Given the description of an element on the screen output the (x, y) to click on. 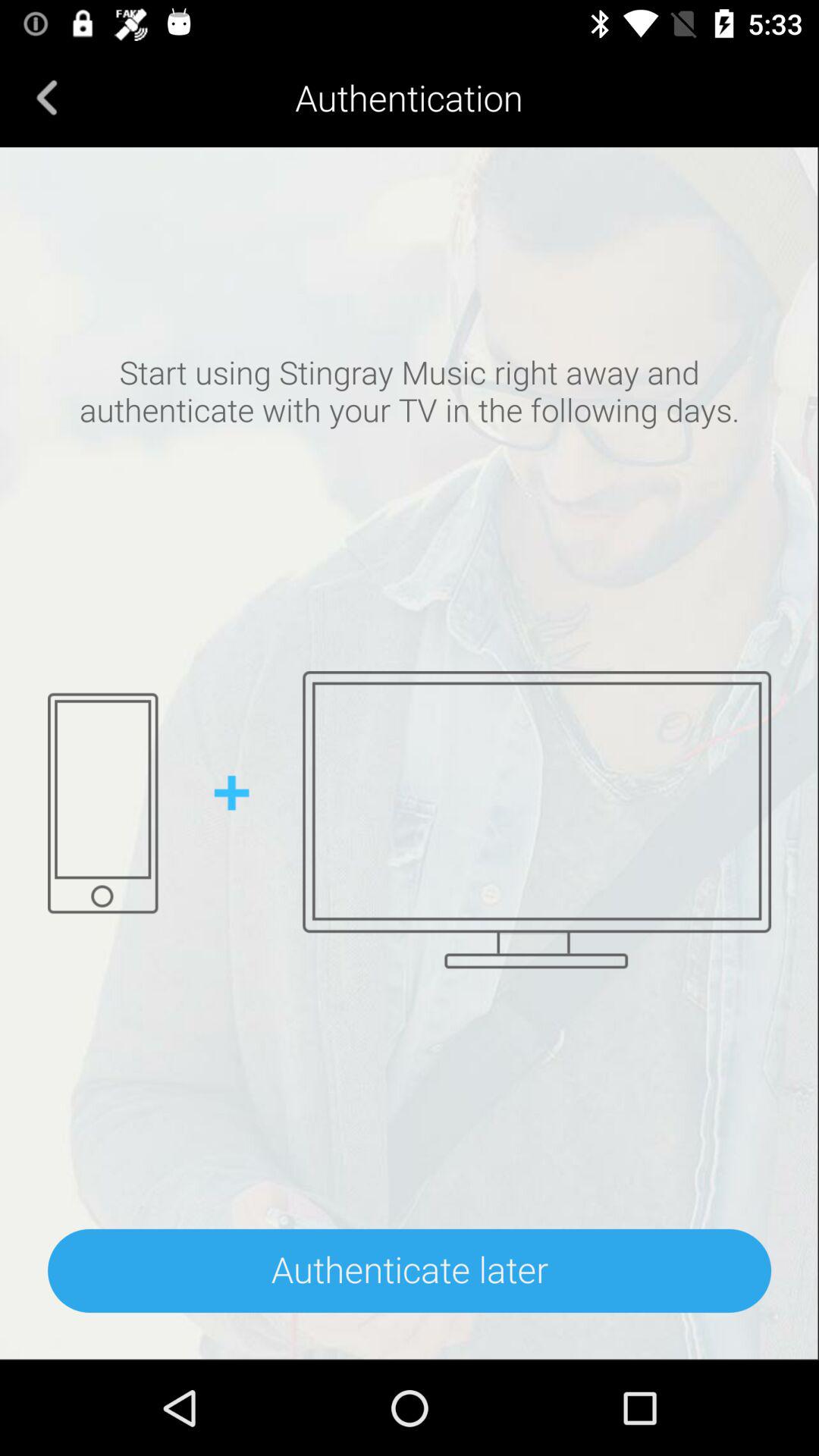
turn off icon next to authentication (47, 97)
